Given the description of an element on the screen output the (x, y) to click on. 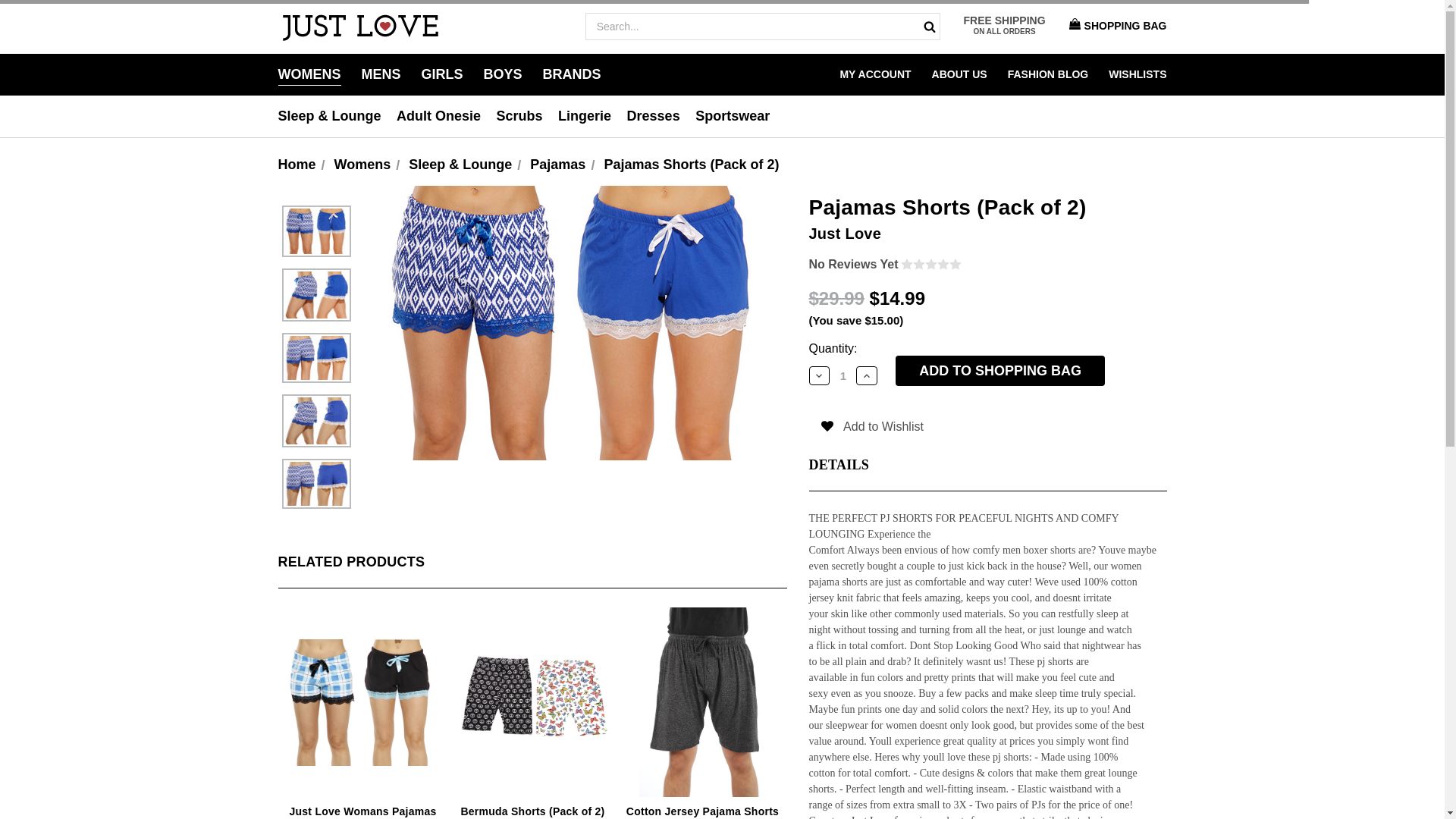
Scrubs (522, 116)
MY ACCOUNT (875, 74)
SHOPPING BAG (1114, 26)
MENS (380, 74)
Pajamas (557, 164)
BOYS (502, 74)
FASHION BLOG (1048, 74)
WISHLISTS (1137, 74)
Adult Onesie (441, 116)
1 (842, 375)
